Given the description of an element on the screen output the (x, y) to click on. 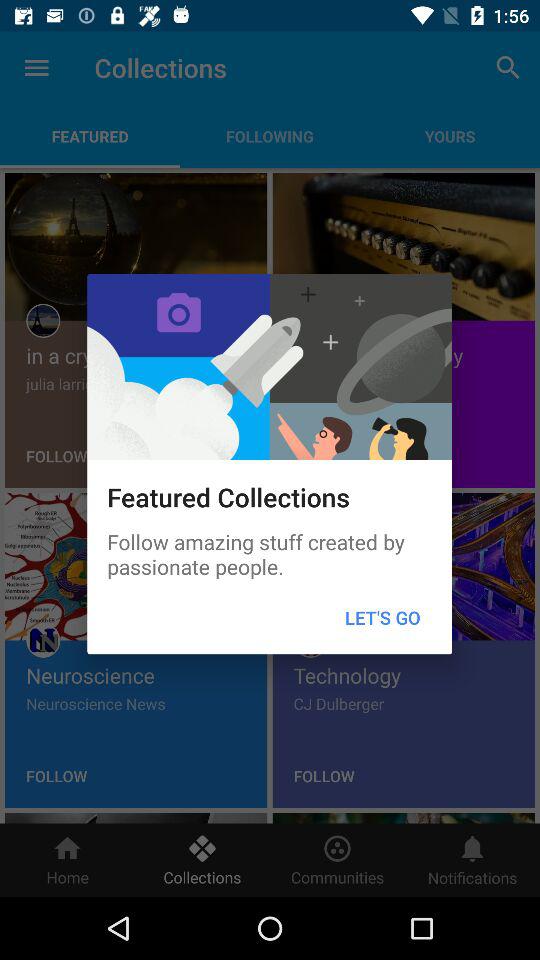
scroll to let's go (382, 617)
